Given the description of an element on the screen output the (x, y) to click on. 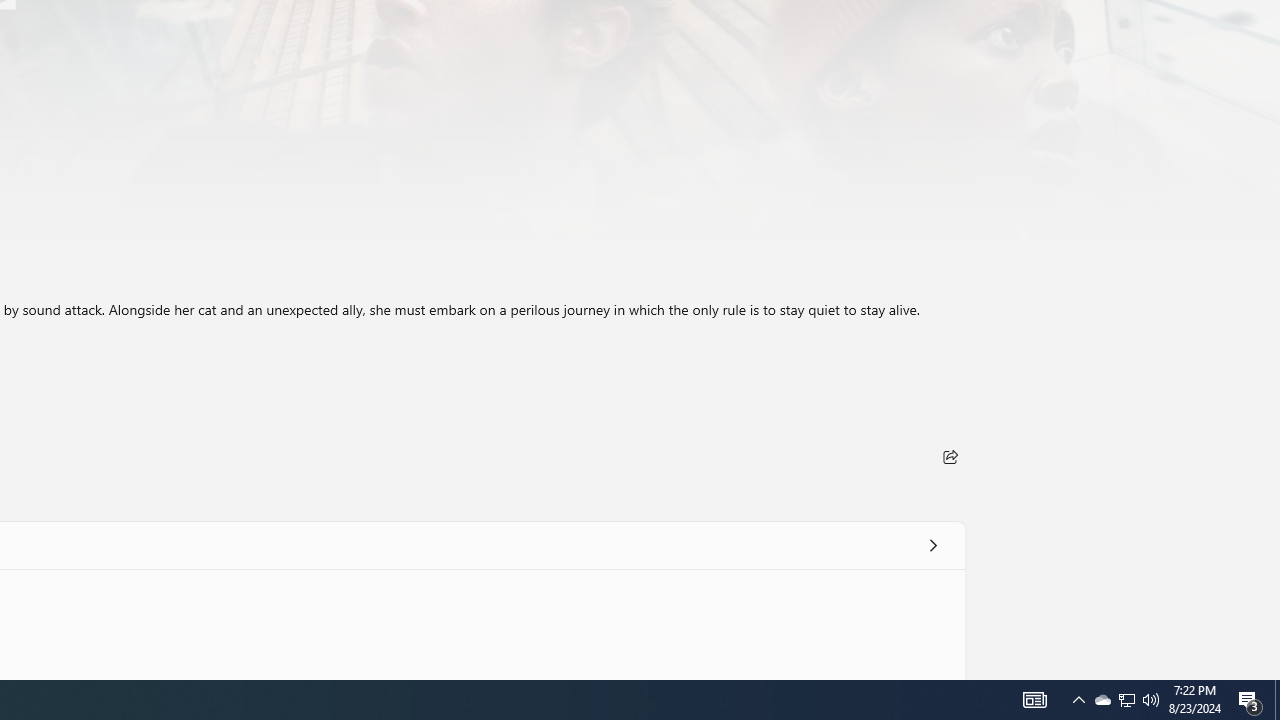
See all (932, 544)
Share (950, 456)
